Given the description of an element on the screen output the (x, y) to click on. 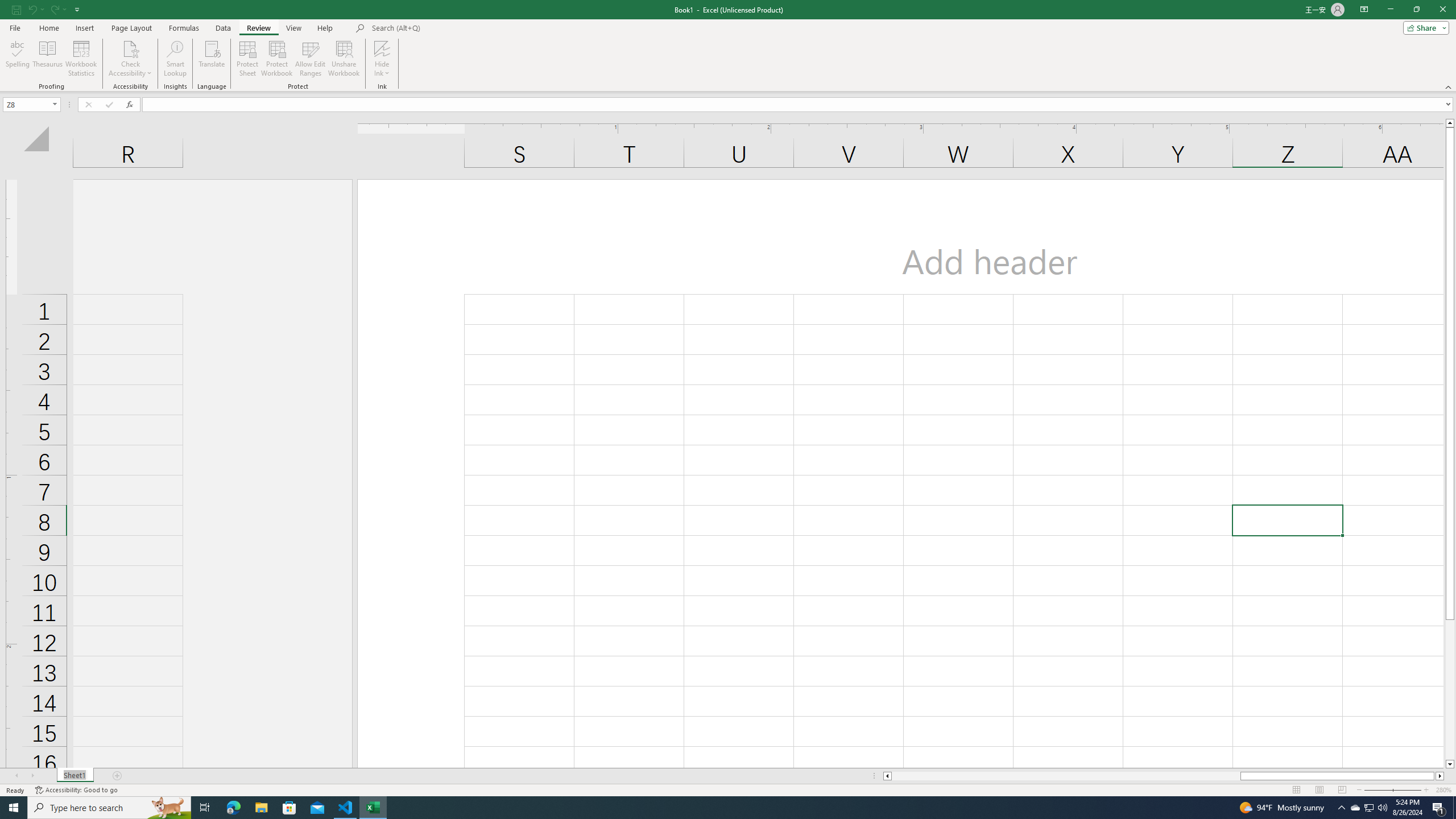
Spelling... (17, 58)
